Given the description of an element on the screen output the (x, y) to click on. 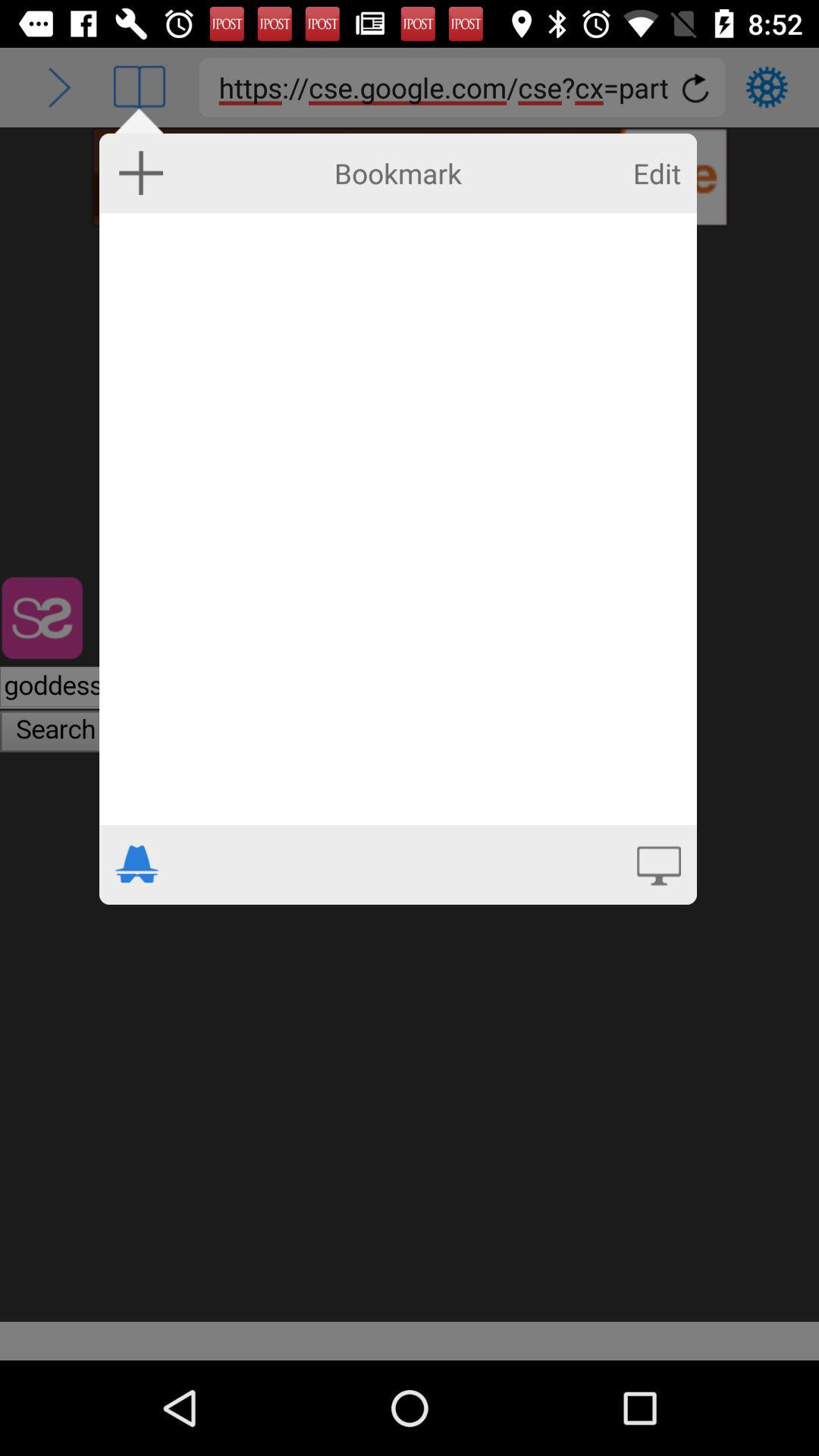
play video (658, 864)
